Given the description of an element on the screen output the (x, y) to click on. 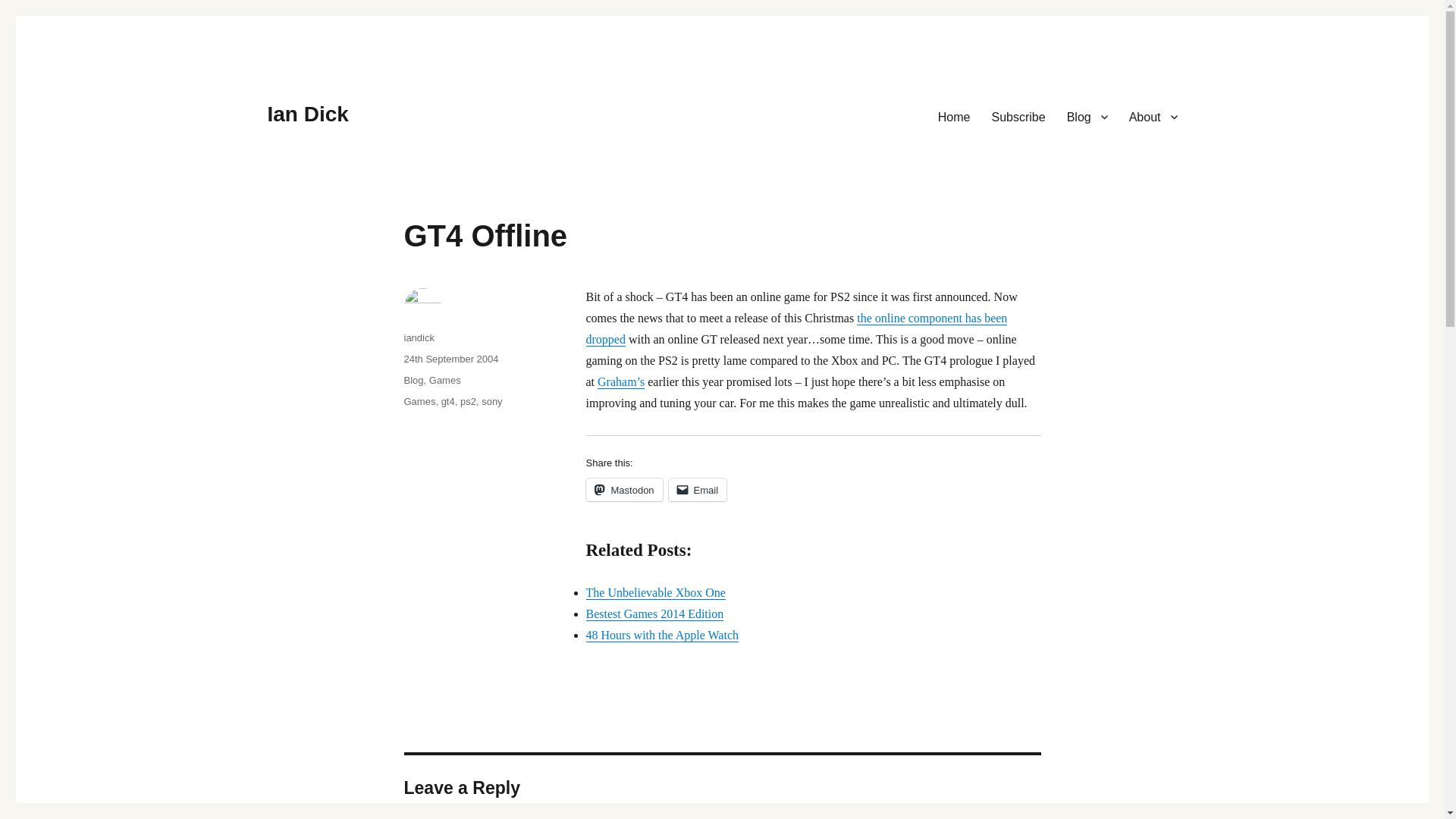
Ian Dick (306, 114)
Click to share on Mastodon (623, 489)
Mastodon (623, 489)
the online component has been dropped (796, 328)
24th September 2004 (450, 358)
The Unbelievable Xbox One (655, 592)
gt4 (447, 401)
48 Hours with the Apple Watch (661, 634)
sony (491, 401)
Blog (1087, 116)
Games (445, 379)
Blog (413, 379)
Games (419, 401)
About (1153, 116)
ps2 (468, 401)
